Given the description of an element on the screen output the (x, y) to click on. 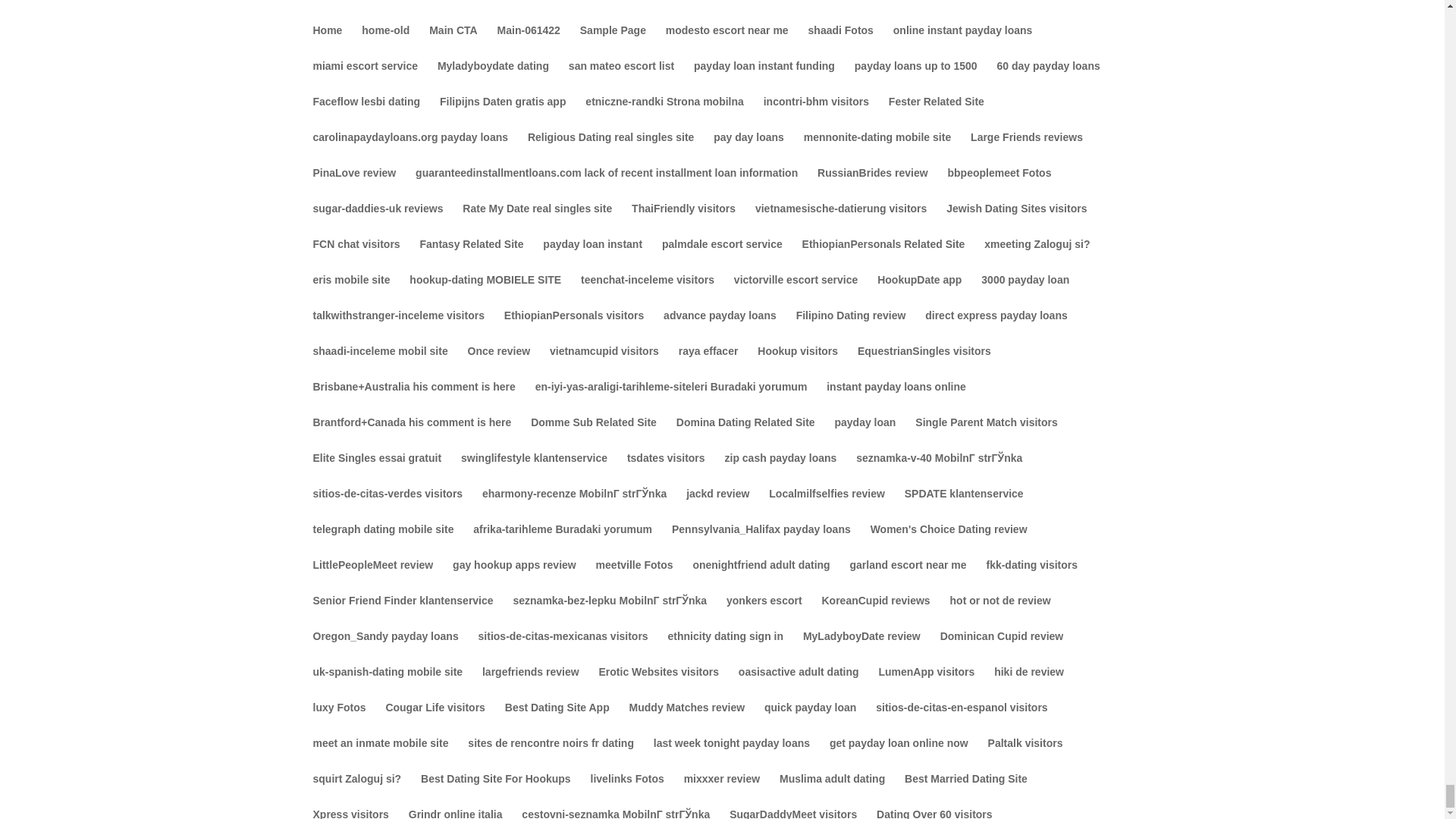
Premium WordPress Themes (414, 798)
